Given the description of an element on the screen output the (x, y) to click on. 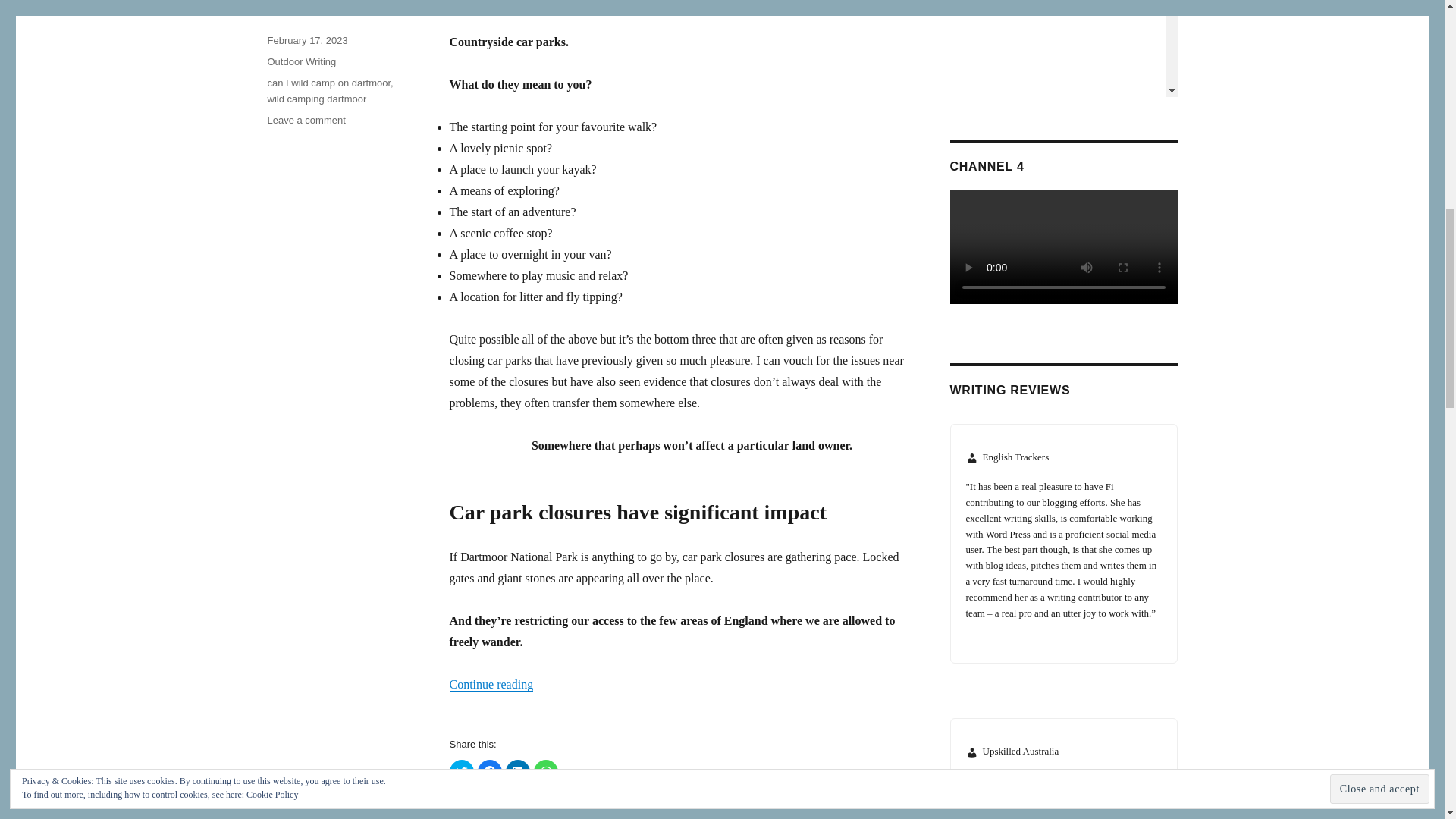
Click to share on WhatsApp (545, 771)
Click to share on Twitter (460, 771)
Click to share on LinkedIn (517, 771)
Click to share on Facebook (489, 771)
